Given the description of an element on the screen output the (x, y) to click on. 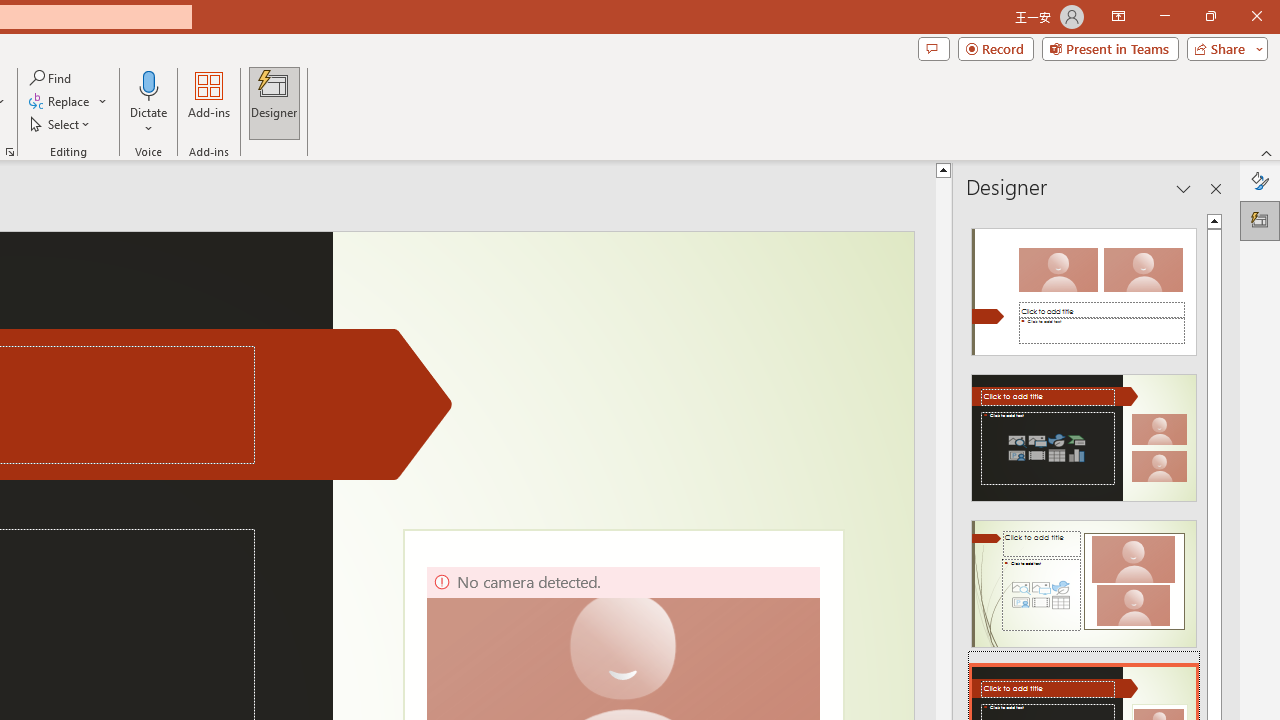
Restore Down (1210, 16)
Task Pane Options (1183, 188)
Dictate (149, 102)
Design Idea (1083, 577)
Class: NetUIImage (1083, 584)
Line up (943, 169)
Find... (51, 78)
Format Object... (9, 151)
Dictate (149, 84)
